Given the description of an element on the screen output the (x, y) to click on. 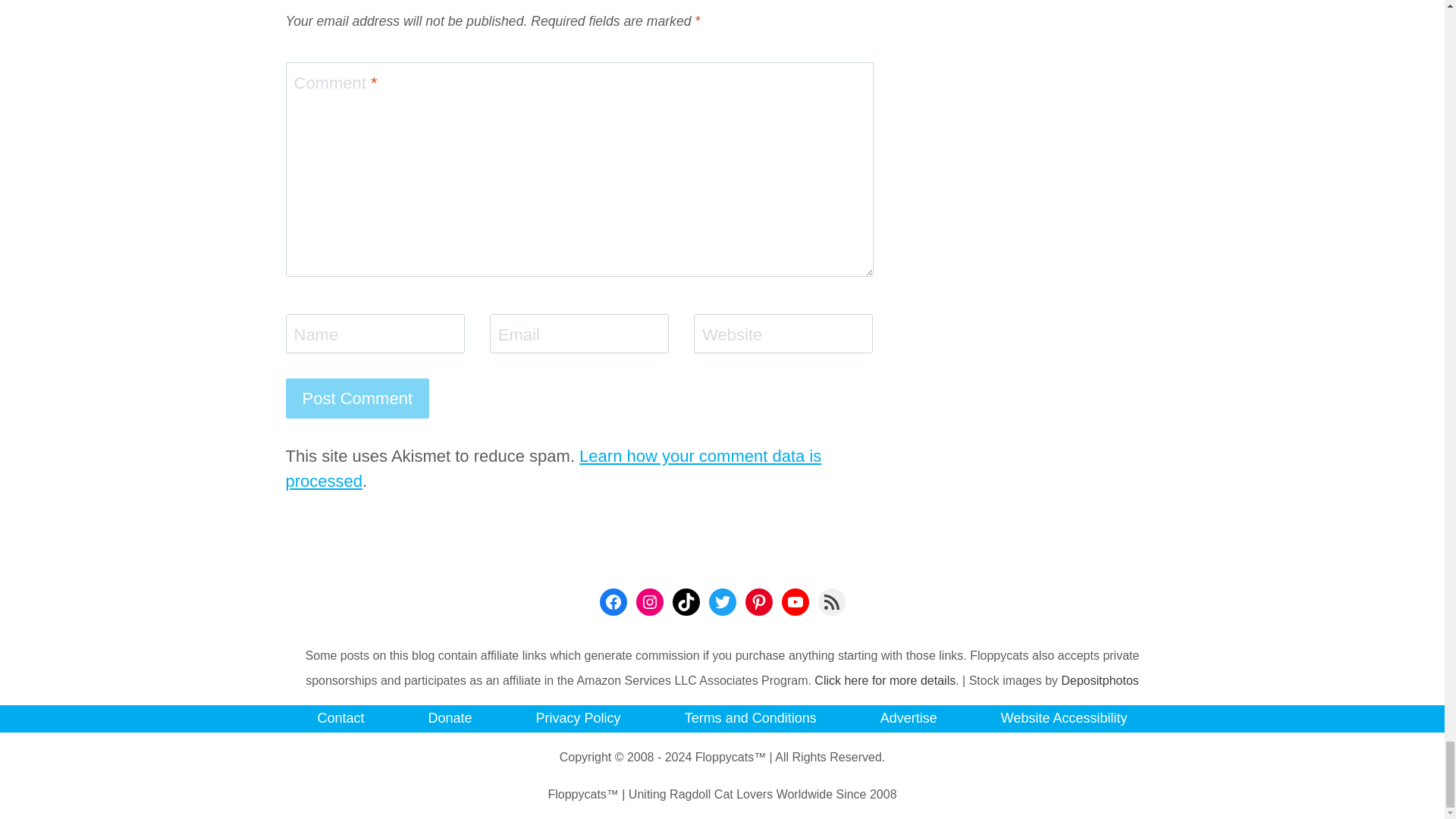
Post Comment (357, 398)
